Given the description of an element on the screen output the (x, y) to click on. 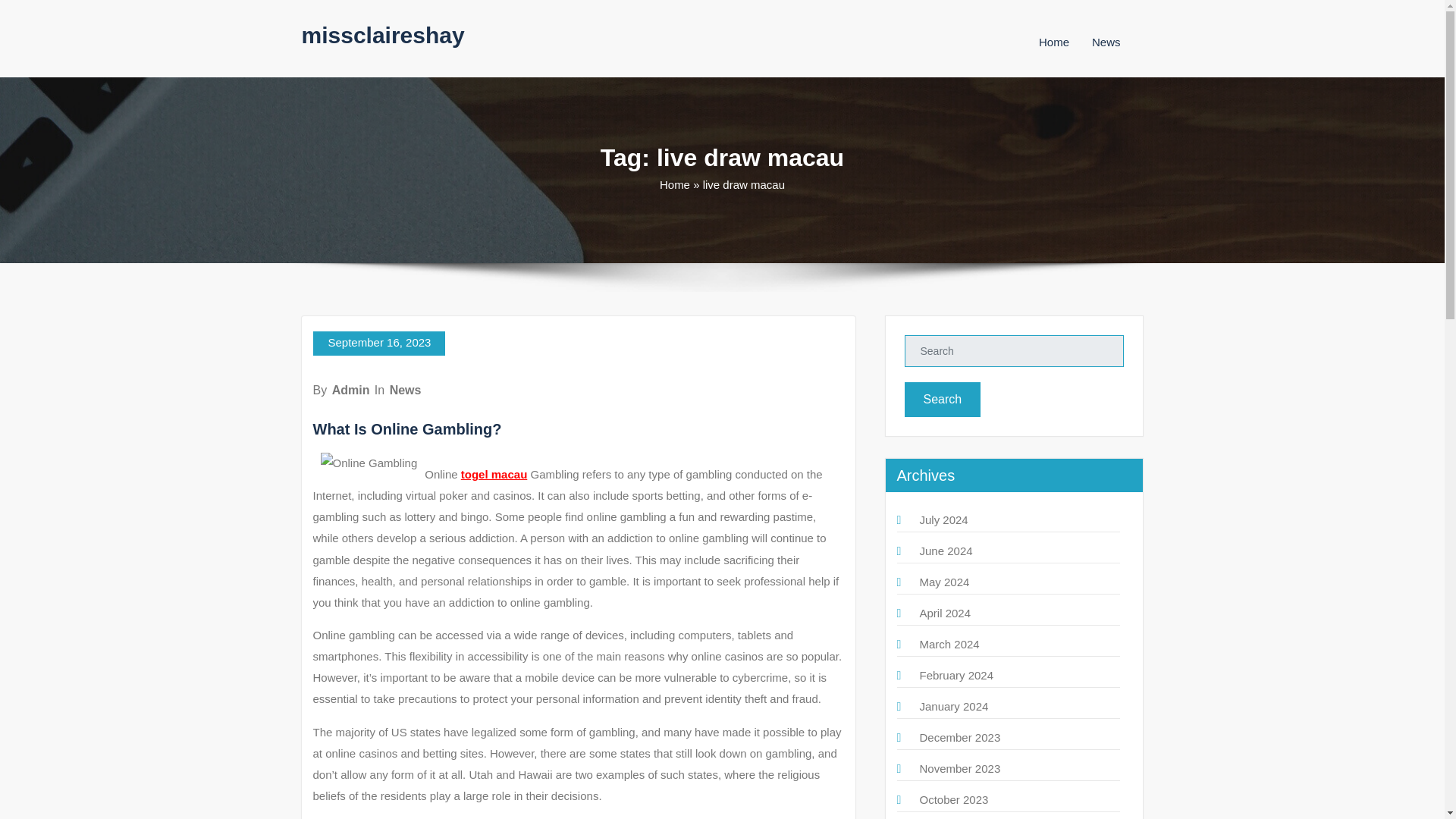
News (1106, 41)
September 16, 2023 (379, 343)
June 2024 (945, 550)
January 2024 (953, 706)
March 2024 (948, 644)
April 2024 (944, 612)
Home (674, 184)
What Is Online Gambling? (406, 428)
Admin (350, 390)
Home (1053, 41)
February 2024 (955, 675)
missclaireshay (382, 34)
togel macau (494, 473)
October 2023 (953, 799)
December 2023 (959, 737)
